Given the description of an element on the screen output the (x, y) to click on. 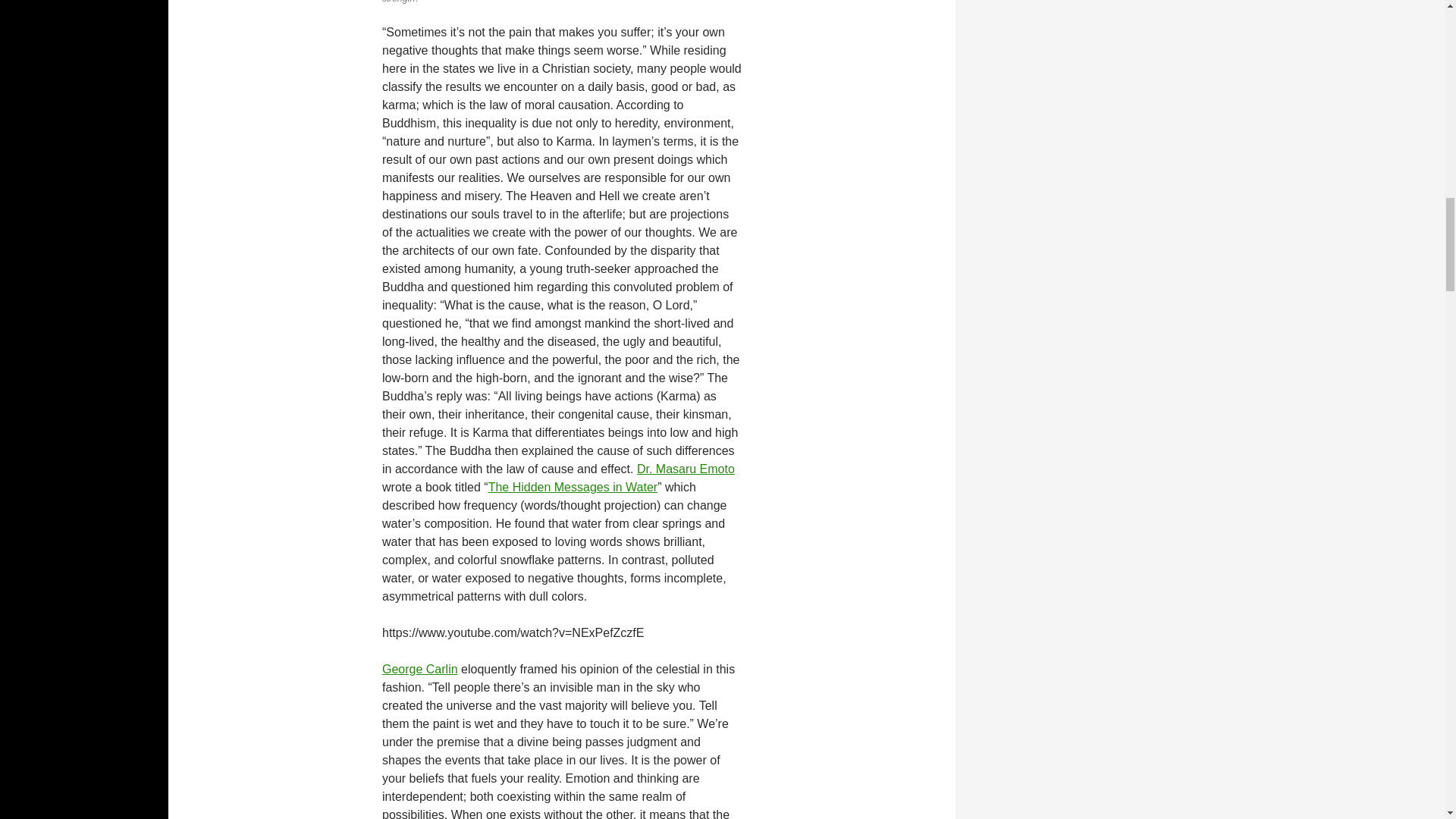
Dr. Masaru Emoto (686, 468)
The Hidden Messages in Water (572, 486)
George Carlin (419, 668)
